Given the description of an element on the screen output the (x, y) to click on. 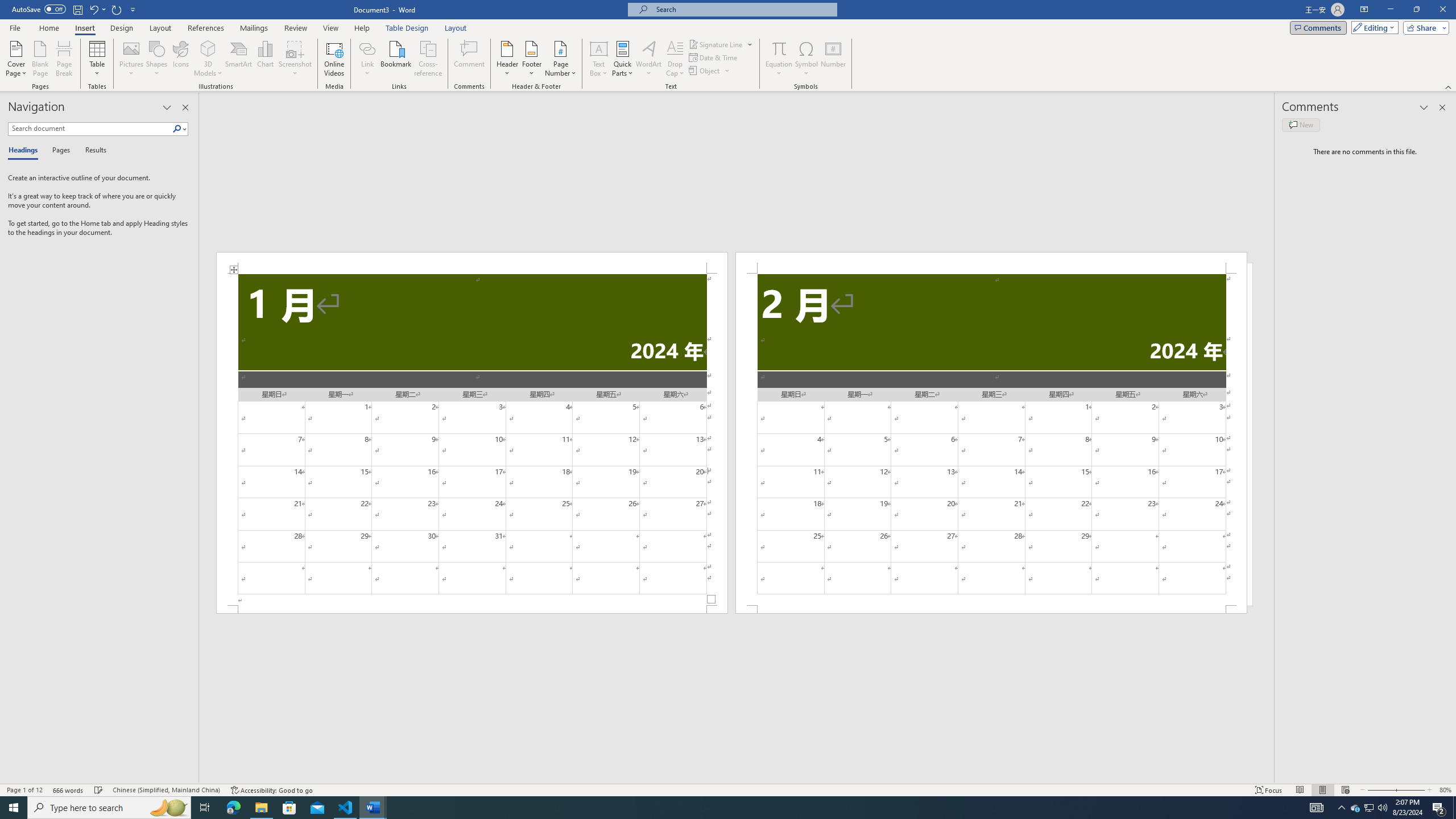
Pictures (131, 58)
Header -Section 1- (471, 263)
Class: MsoCommandBar (728, 789)
3D Models (208, 58)
Results (91, 150)
Footer -Section 1- (471, 609)
Accessibility Checker Accessibility: Good to go (271, 790)
Headings (25, 150)
